Given the description of an element on the screen output the (x, y) to click on. 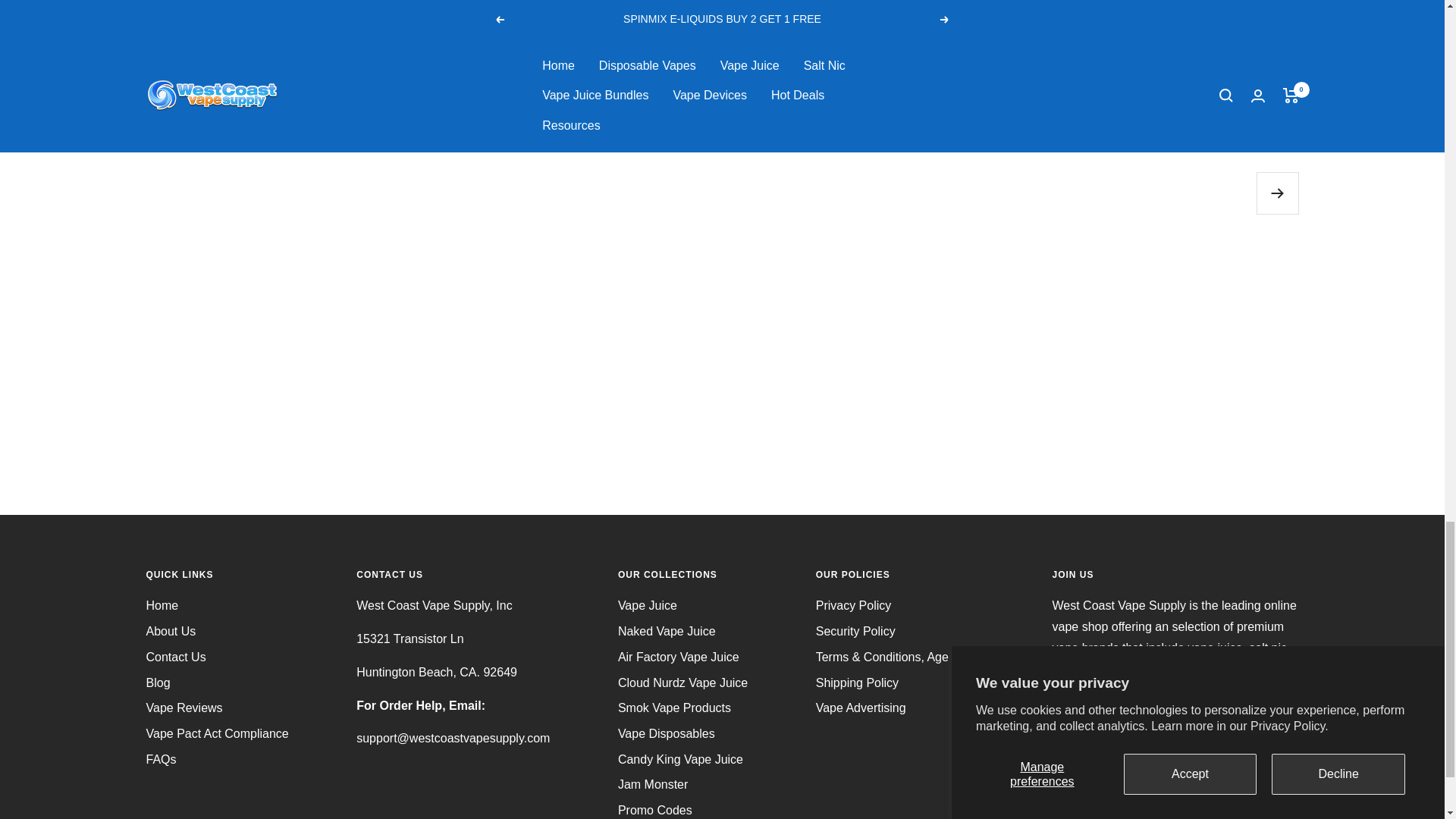
Juice Head (1107, 731)
